Given the description of an element on the screen output the (x, y) to click on. 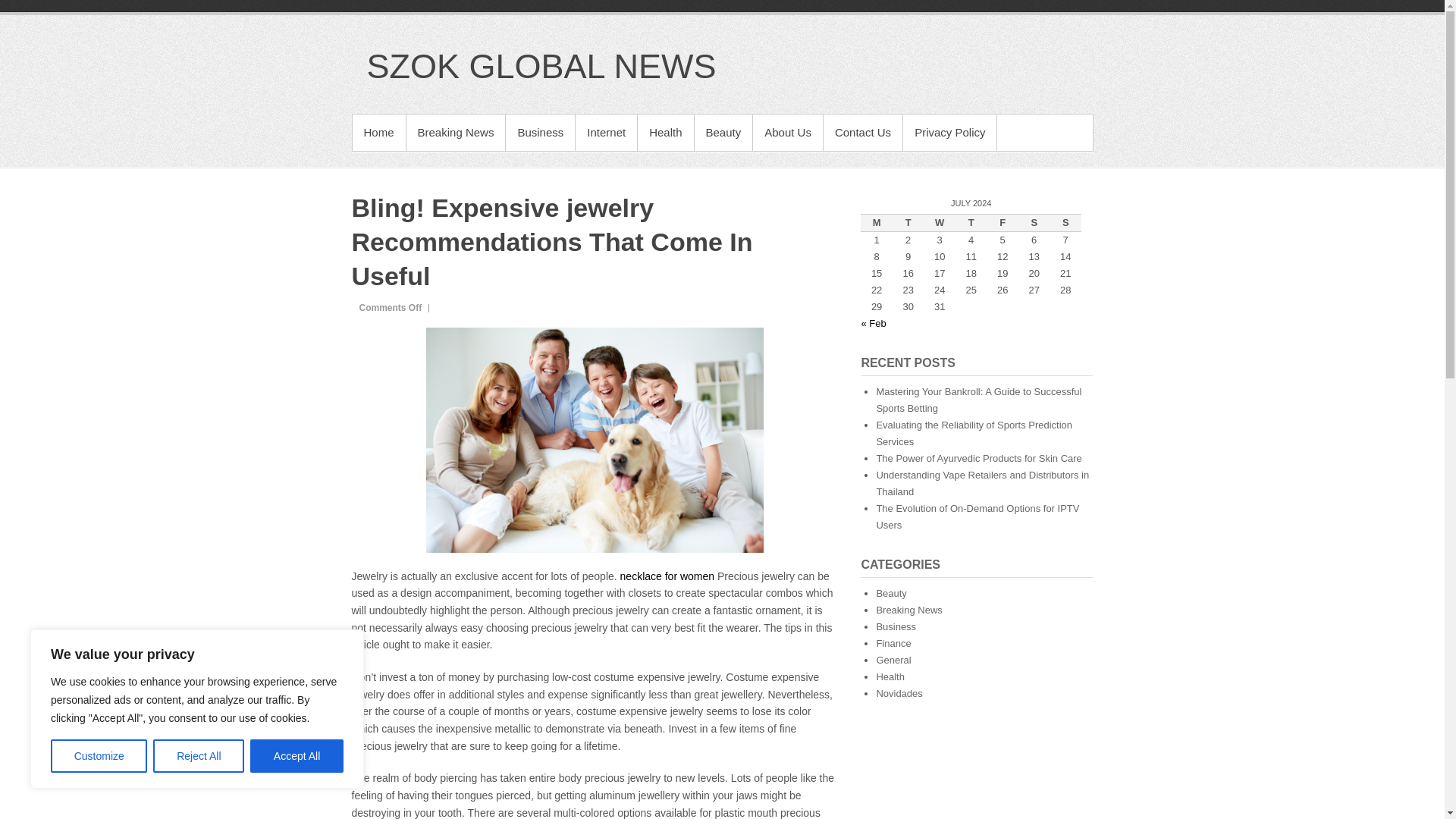
Health (665, 132)
Saturday (1033, 222)
About Us (787, 132)
Friday (1002, 222)
Privacy Policy (948, 132)
Business (540, 132)
Finance (893, 643)
Sunday (1065, 222)
Home (378, 132)
Beauty (890, 593)
Breaking News (455, 132)
Thursday (971, 222)
SZOK GLOBAL NEWS (541, 65)
necklace for women (667, 576)
